Given the description of an element on the screen output the (x, y) to click on. 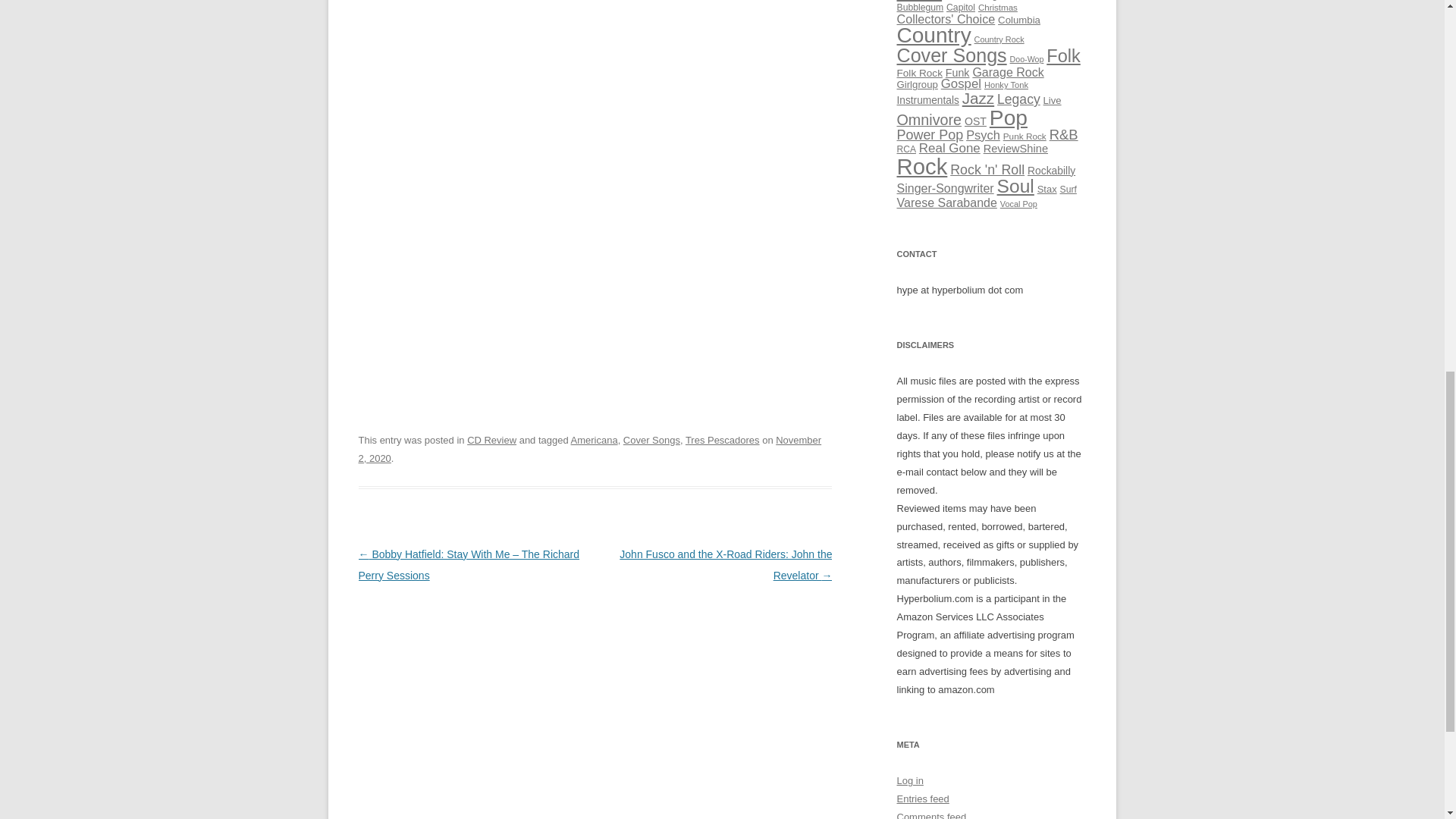
Americana (593, 439)
Brill Building (970, 0)
Blues (919, 1)
Country Rock (999, 39)
British Invasion (1031, 0)
Columbia (1019, 19)
Christmas (997, 7)
Capitol (960, 7)
Tres Pescadores (722, 439)
5:10 pm (589, 449)
